Given the description of an element on the screen output the (x, y) to click on. 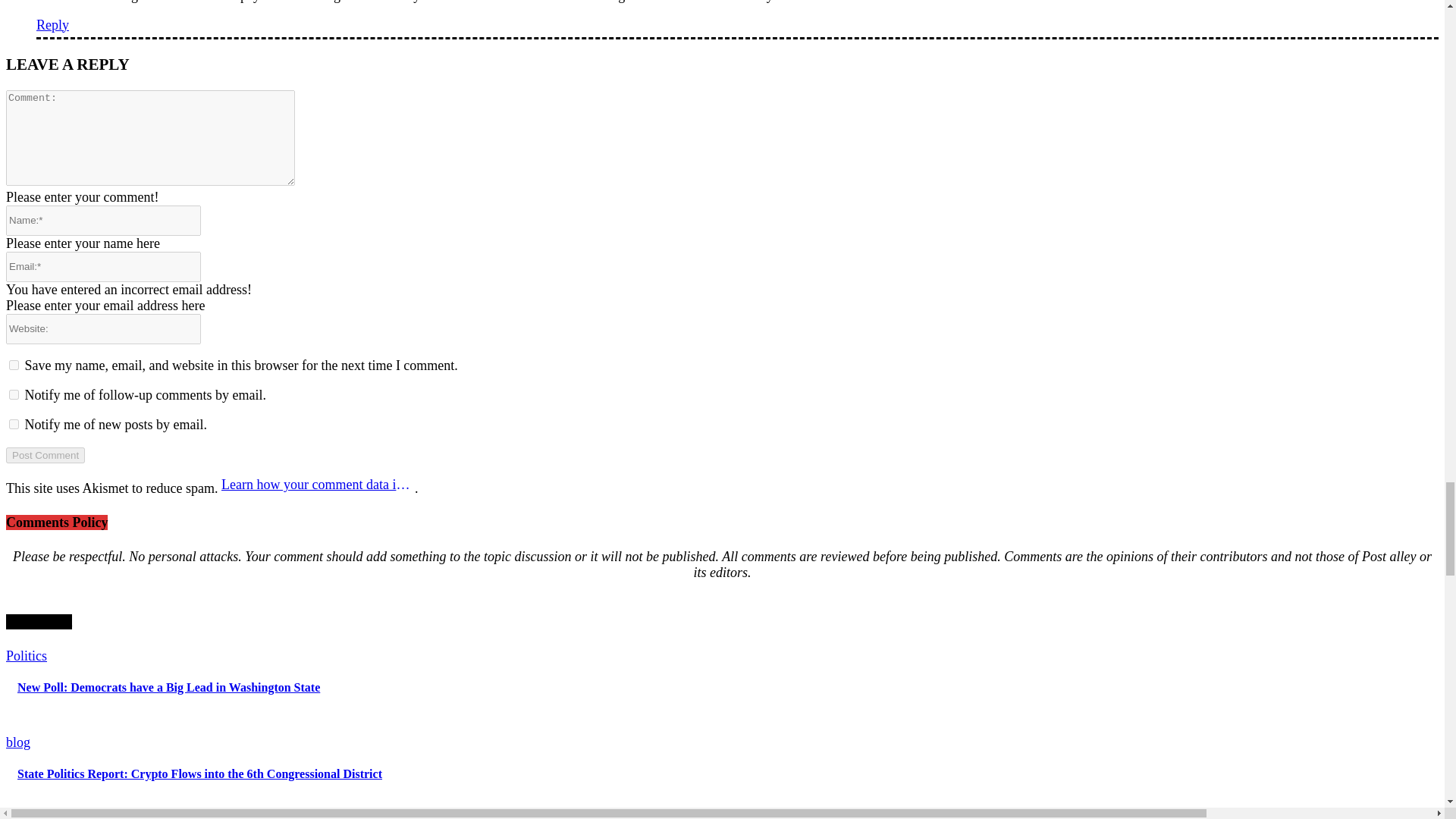
subscribe (13, 394)
Post Comment (44, 455)
subscribe (13, 424)
yes (13, 365)
